Given the description of an element on the screen output the (x, y) to click on. 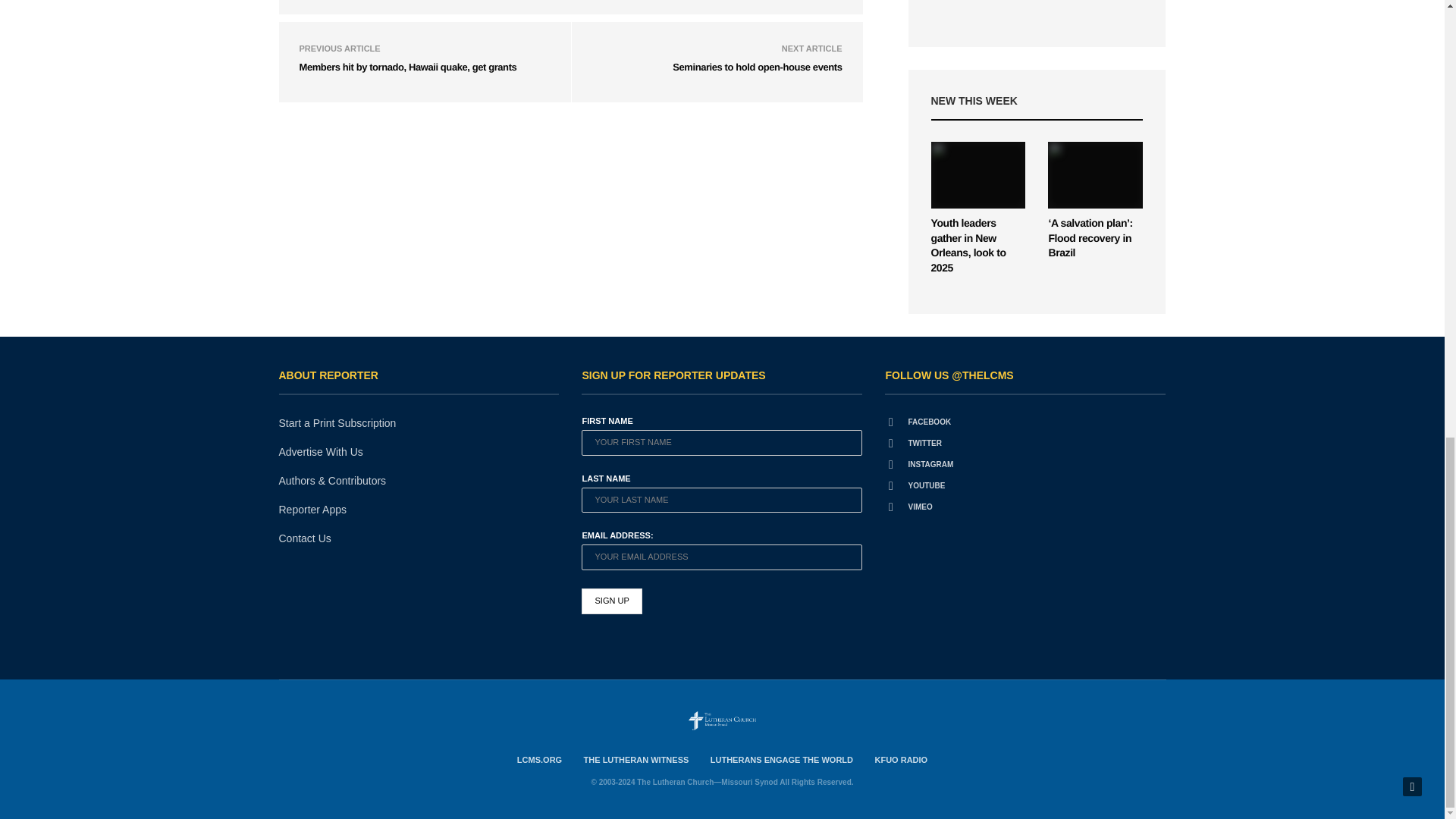
Youth leaders gather in New Orleans, look to 2025 (978, 174)
Seminaries to hold open-house events (756, 66)
Sign up (611, 601)
Members hit by tornado, Hawaii quake, get grants (407, 66)
Youth leaders gather in New Orleans, look to 2025 (968, 245)
